Given the description of an element on the screen output the (x, y) to click on. 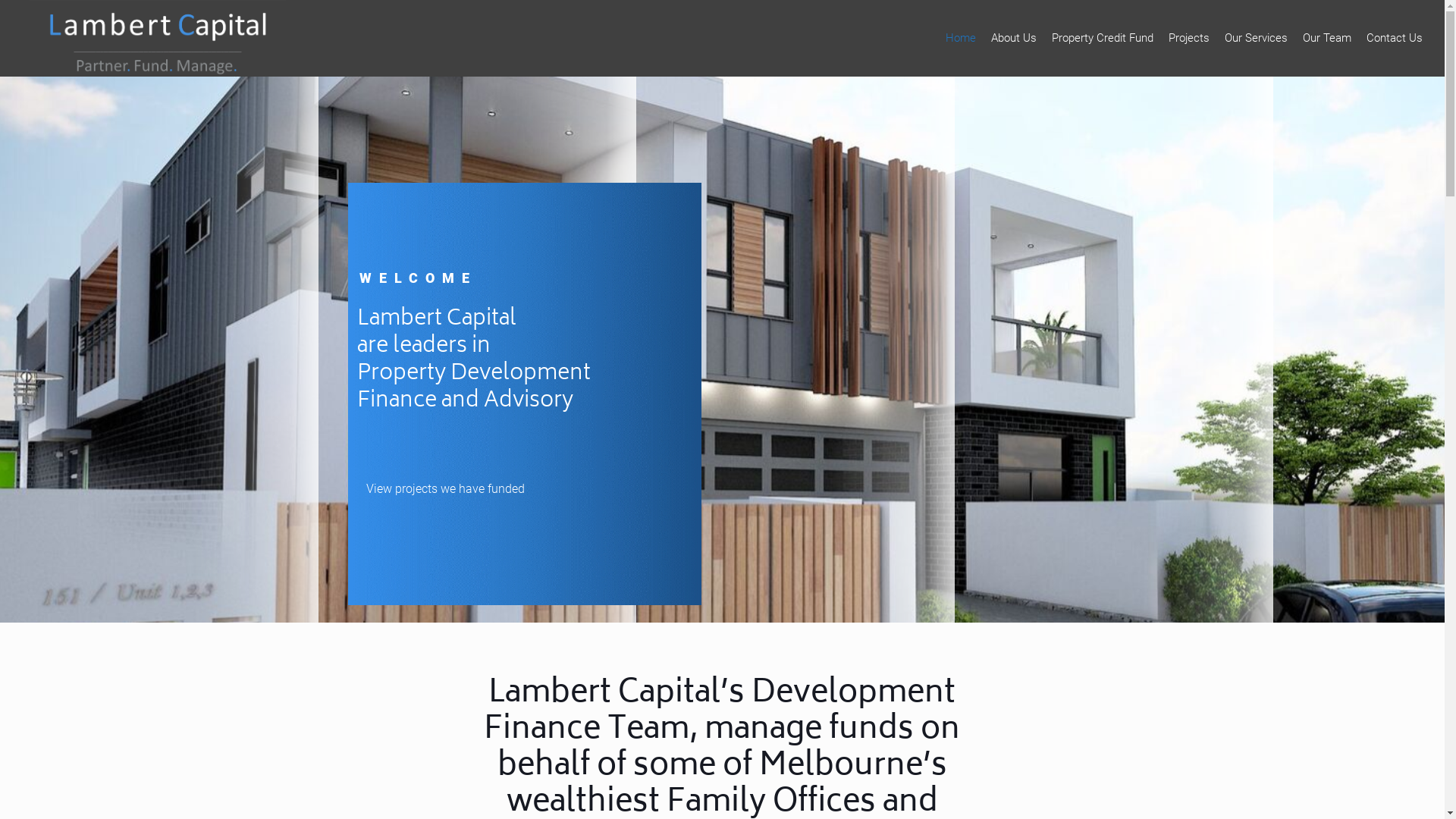
Home Element type: text (960, 37)
Projects Element type: text (1189, 37)
Our Team Element type: text (1326, 37)
View projects we have funded Element type: text (445, 488)
Contact Us Element type: text (1394, 37)
Property Credit Fund Element type: text (1102, 37)
About Us Element type: text (1013, 37)
Our Services Element type: text (1256, 37)
Lambert Capital Finance Element type: hover (157, 37)
